Given the description of an element on the screen output the (x, y) to click on. 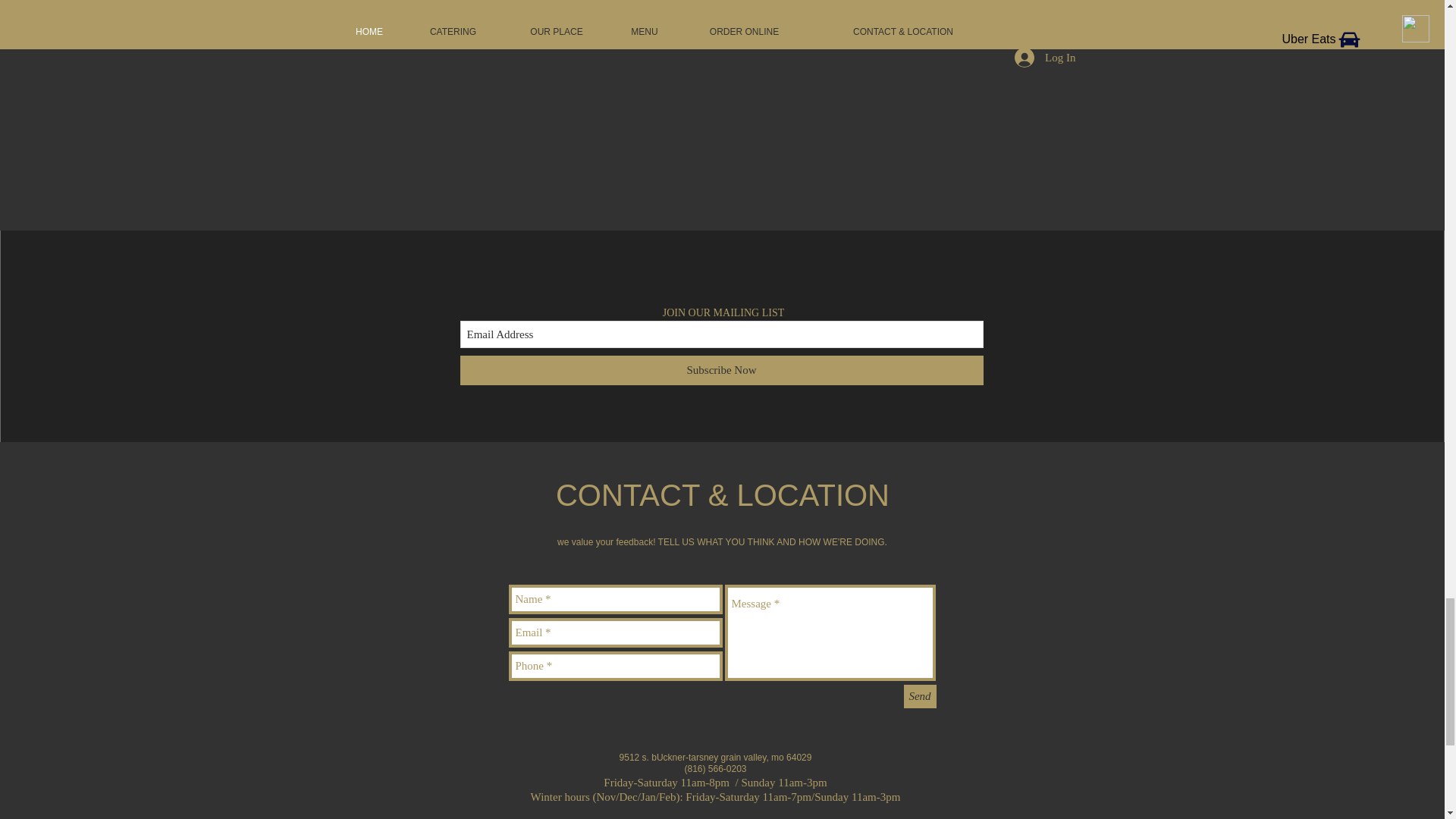
Send (920, 696)
Subscribe Now (721, 369)
